Given the description of an element on the screen output the (x, y) to click on. 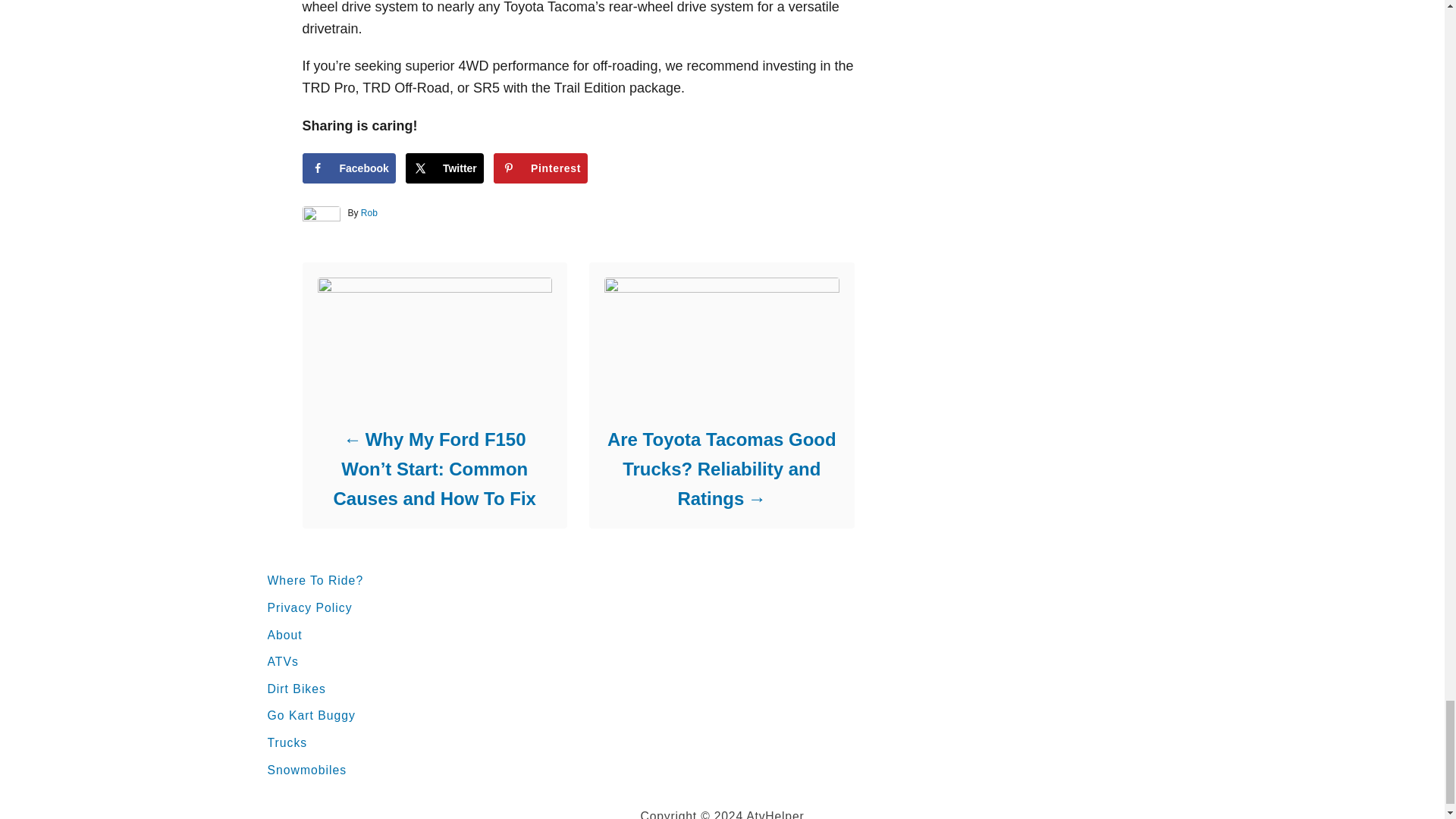
Save to Pinterest (540, 168)
Share on X (444, 168)
Pinterest (540, 168)
Rob (369, 213)
Facebook (347, 168)
Share on Facebook (347, 168)
Are Toyota Tacomas Good Trucks? Reliability and Ratings (721, 469)
Twitter (444, 168)
